Given the description of an element on the screen output the (x, y) to click on. 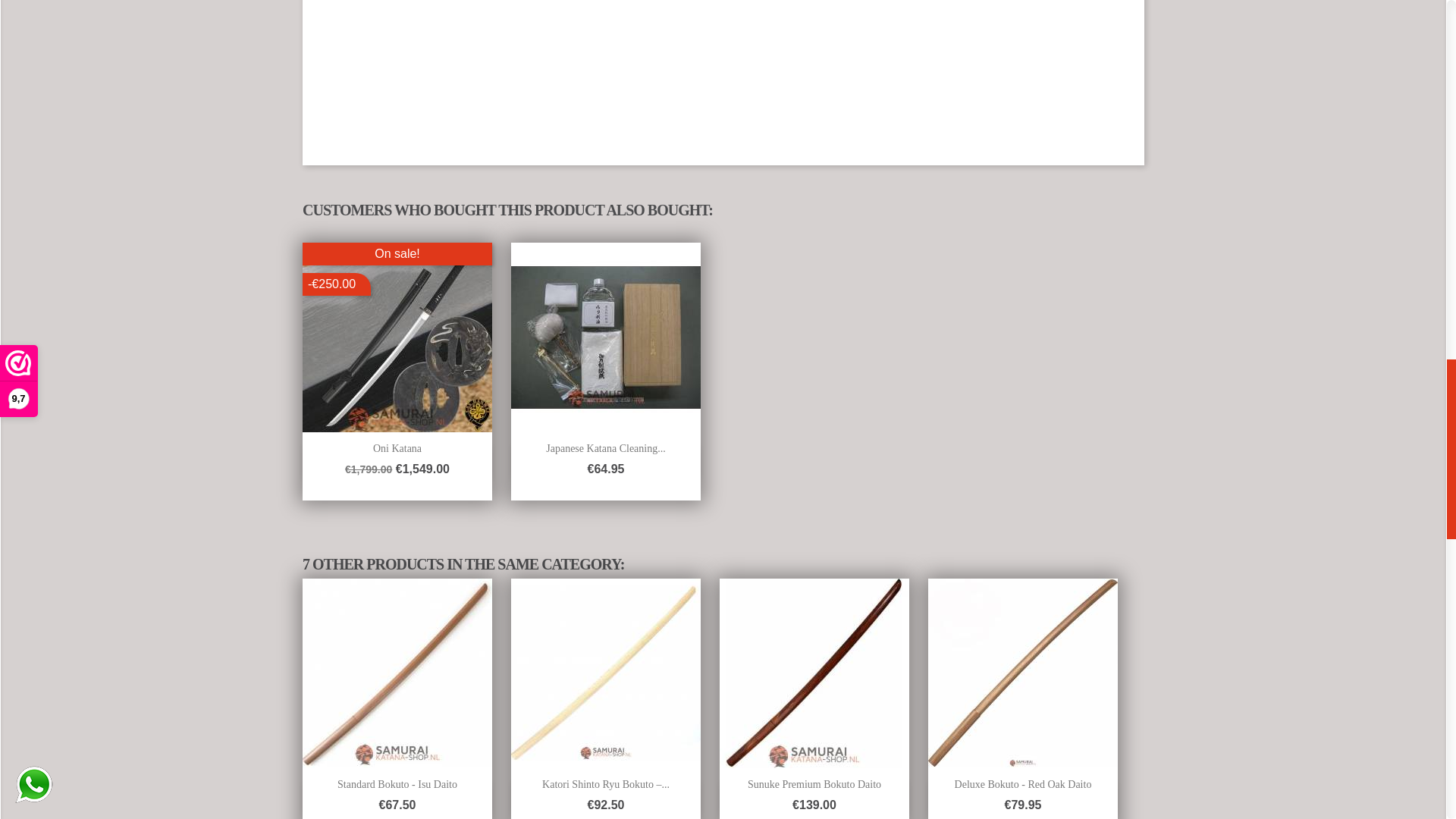
YouTube video player (536, 67)
